Given the description of an element on the screen output the (x, y) to click on. 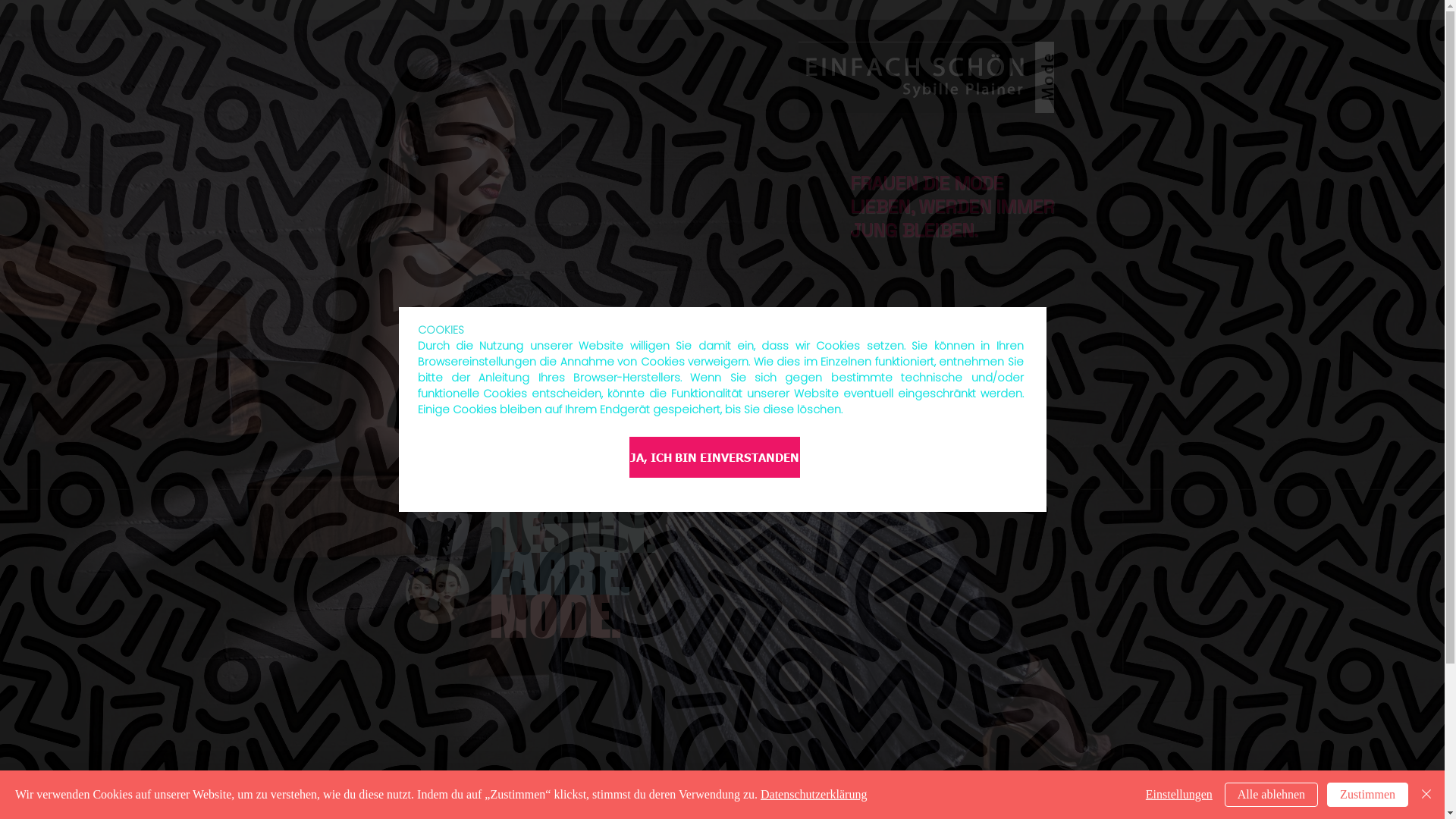
KONTAKT Element type: text (977, 367)
SERVICE Element type: text (875, 367)
NEW ARRIVALS Element type: text (669, 367)
FARBE. Element type: text (558, 576)
ABOUT US Element type: text (548, 367)
NEWS Element type: text (780, 367)
Alle ablehnen Element type: text (1270, 794)
FASHION. Element type: text (584, 448)
ELEGANZ. Element type: text (581, 491)
MODE. Element type: text (554, 618)
HOME Element type: text (450, 367)
DESIGN. Element type: text (571, 533)
Zustimmen Element type: text (1367, 794)
